Given the description of an element on the screen output the (x, y) to click on. 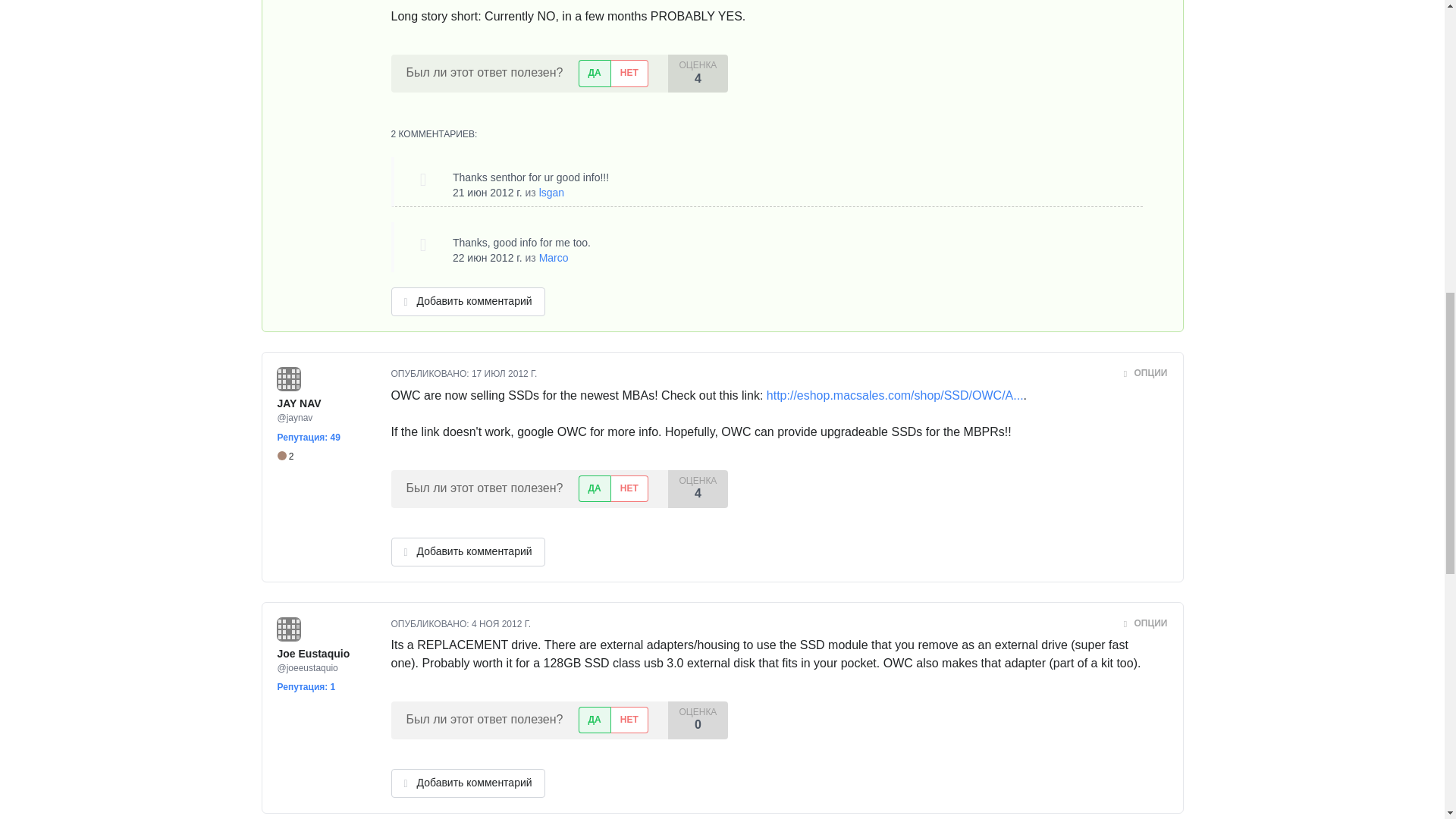
Thu, 21 Jun 2012 11:15:14 -0700 (487, 192)
Tue, 17 Jul 2012 08:00:41 -0700 (504, 373)
Sun, 04 Nov 2012 15:59:50 -0700 (501, 624)
lsgan (551, 192)
Fri, 22 Jun 2012 07:59:17 -0700 (487, 257)
